Given the description of an element on the screen output the (x, y) to click on. 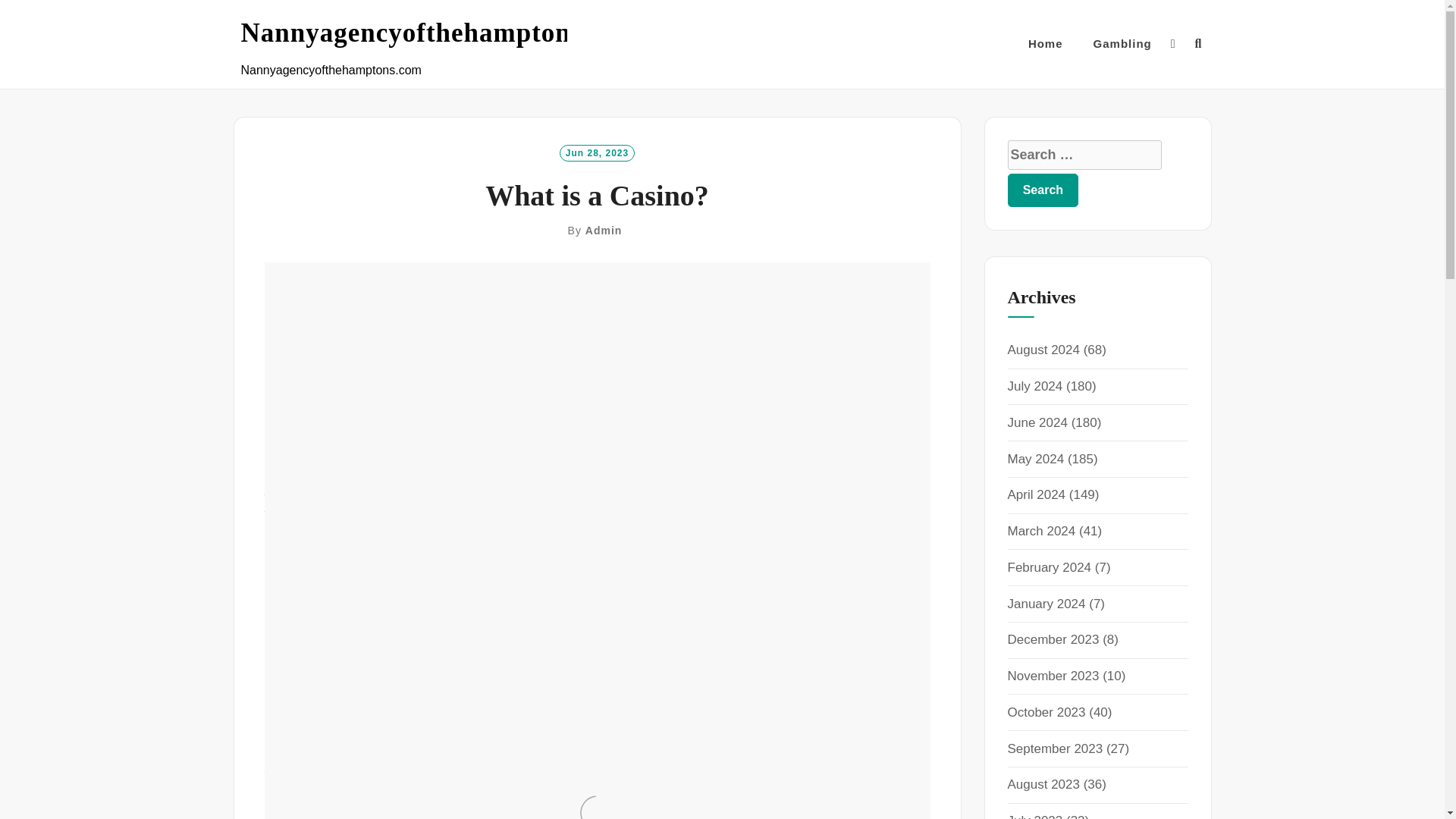
March 2024 (1041, 531)
July 2023 (1034, 816)
May 2024 (1035, 459)
April 2024 (1036, 494)
October 2023 (1045, 712)
Search (1042, 190)
August 2024 (1042, 350)
Gambling (1122, 44)
Nannyagencyofthehamptons.Com (443, 33)
Search (1042, 190)
